Given the description of an element on the screen output the (x, y) to click on. 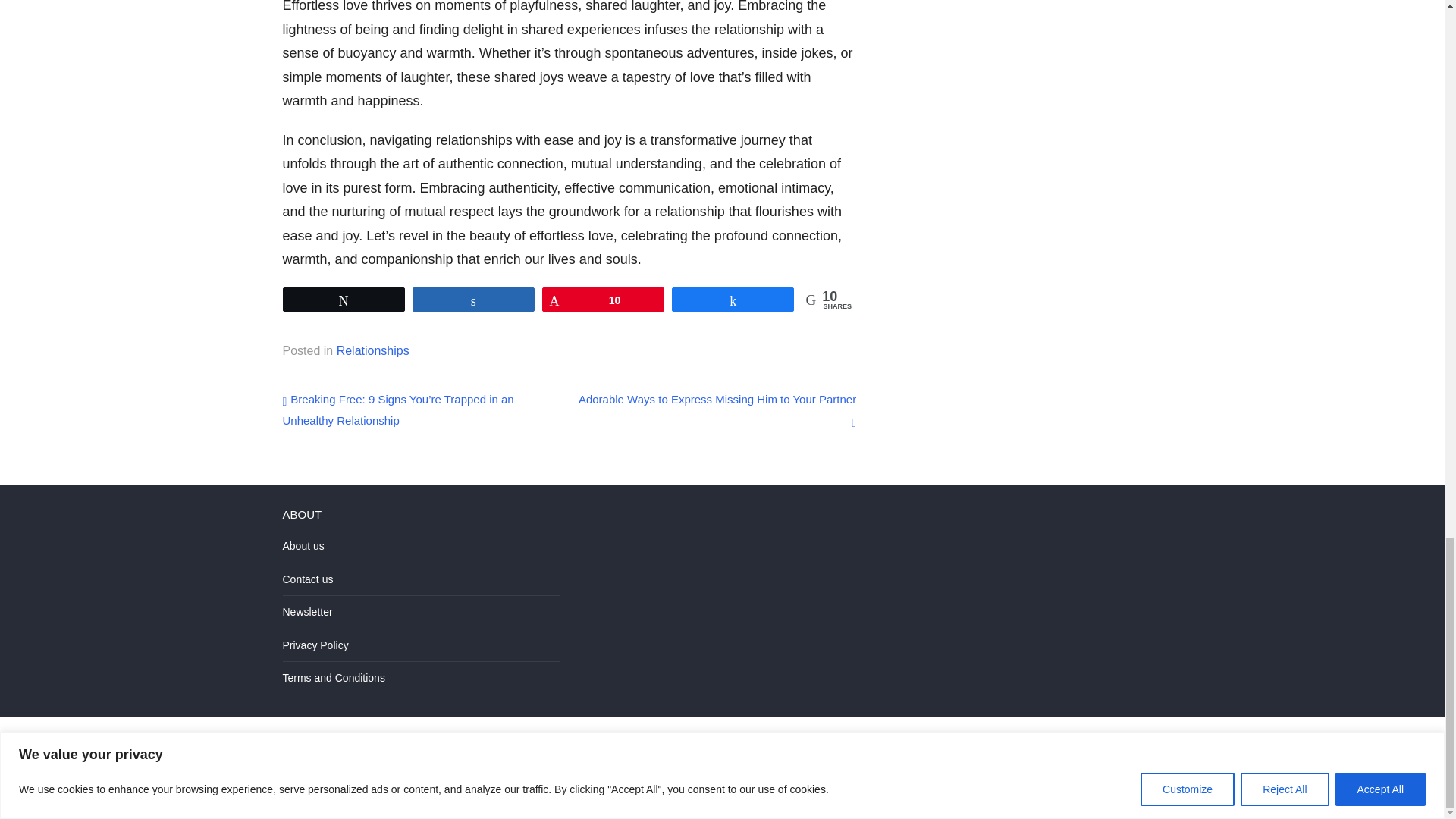
Privacy Policy (314, 645)
10 (603, 299)
About us (302, 545)
Adorable Ways to Express Missing Him to Your Partner (717, 409)
Relationships (372, 350)
Contact us (307, 579)
Newsletter (306, 612)
